Given the description of an element on the screen output the (x, y) to click on. 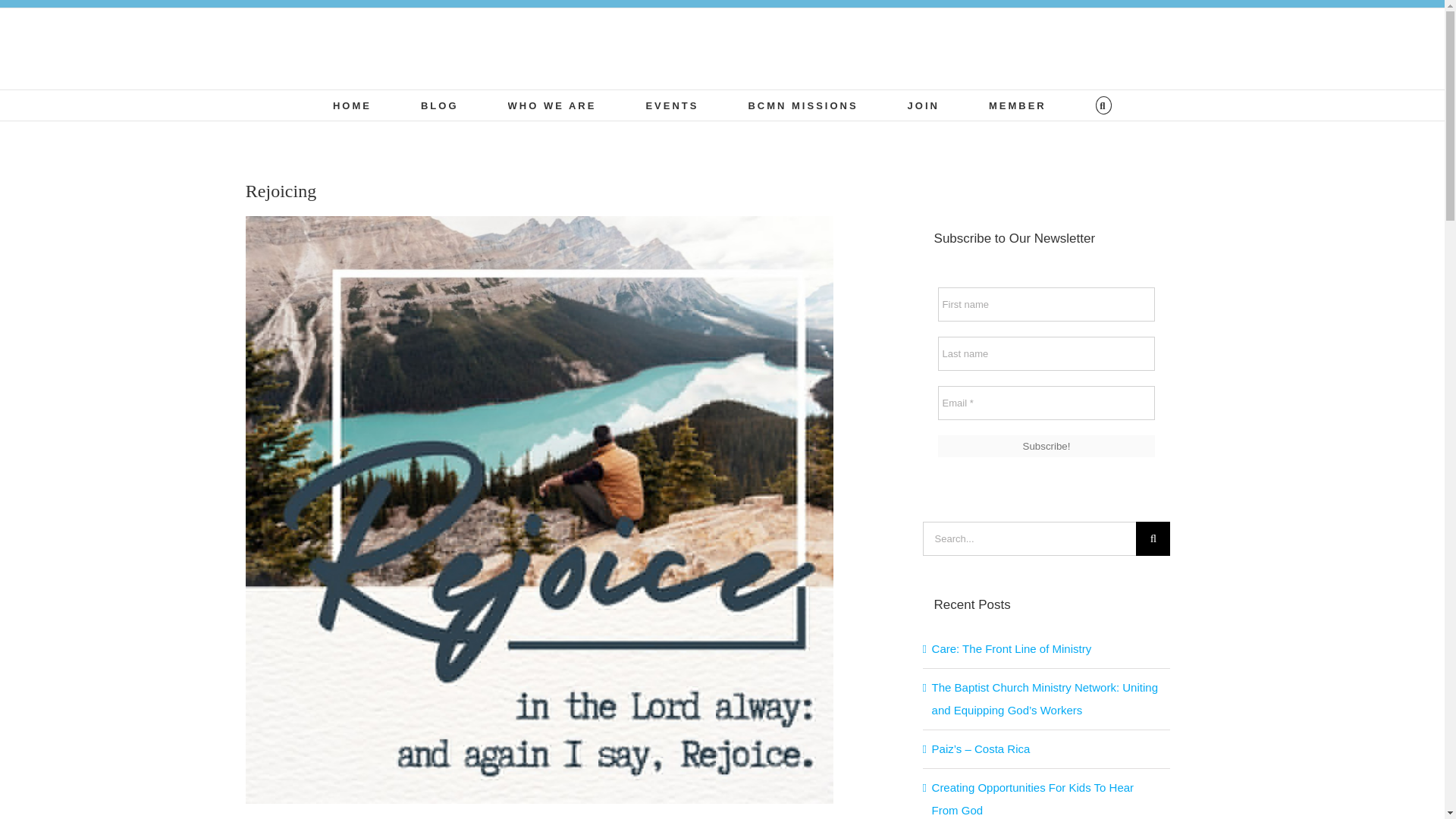
Subscribe! (1046, 445)
HOME (352, 105)
BLOG (439, 105)
JOIN (923, 105)
BCMN MISSIONS (802, 105)
WHO WE ARE (552, 105)
EVENTS (671, 105)
MEMBER (1017, 105)
